Given the description of an element on the screen output the (x, y) to click on. 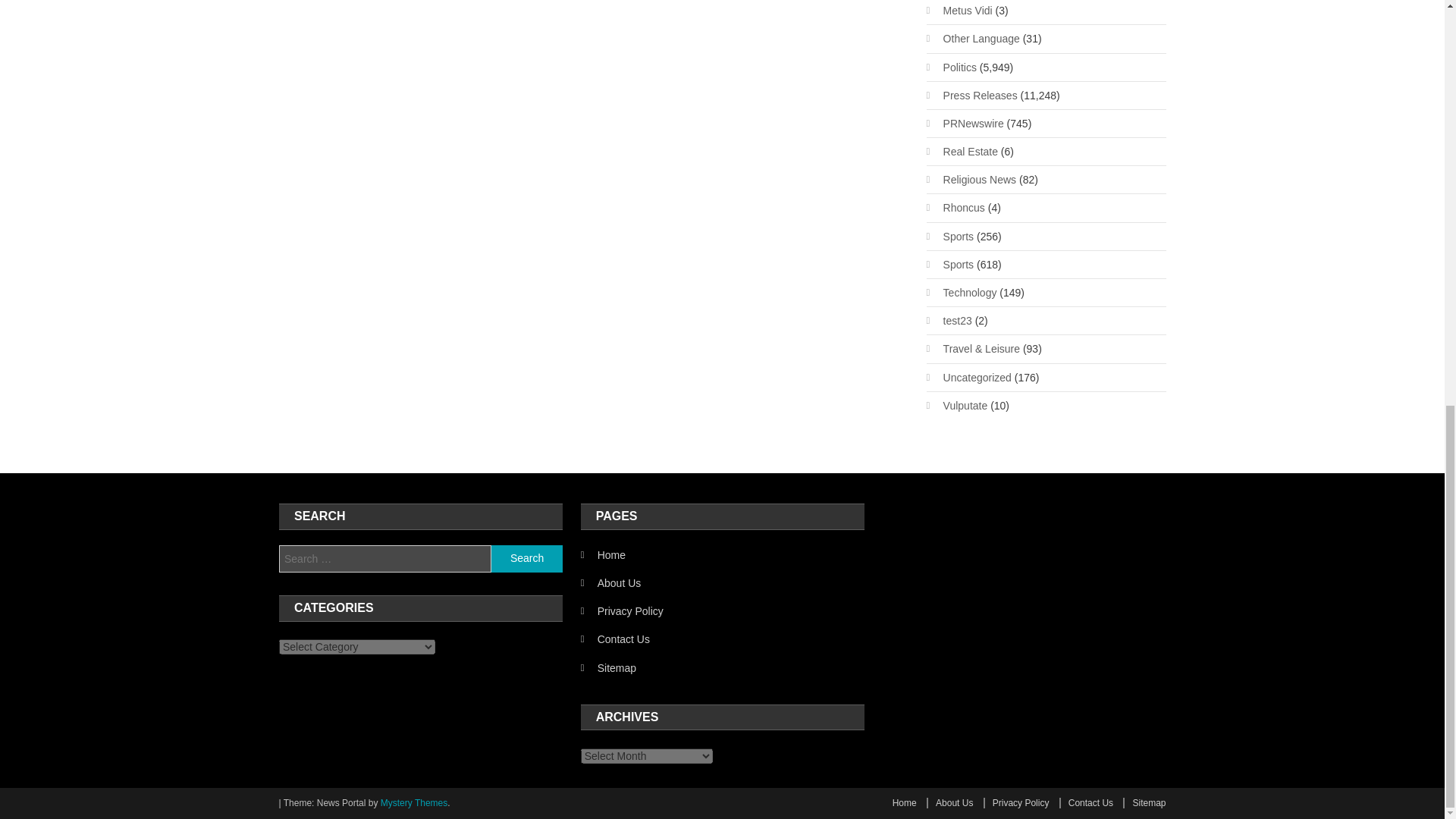
Search (527, 558)
Search (527, 558)
